Given the description of an element on the screen output the (x, y) to click on. 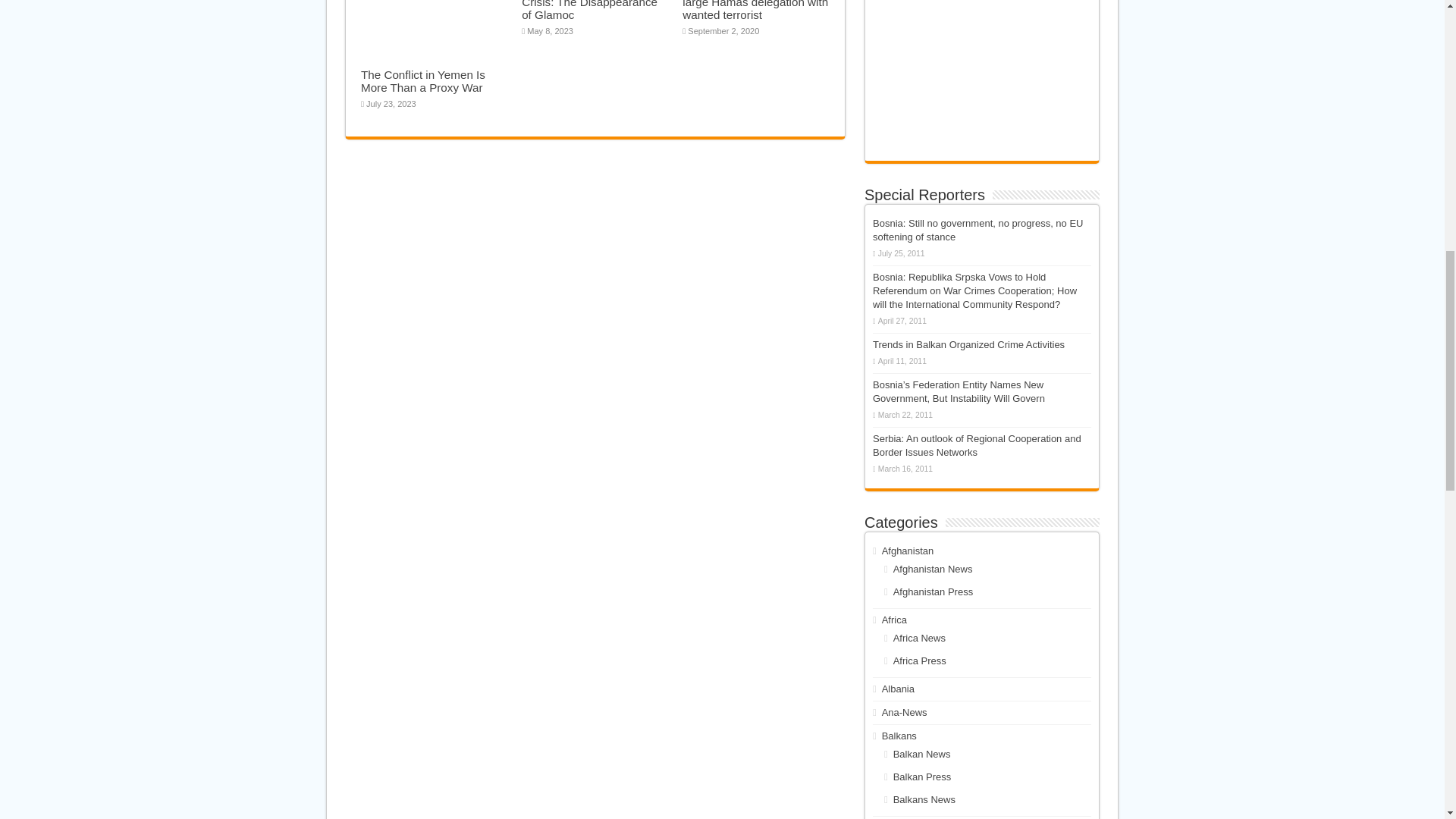
The Conflict in Yemen Is More Than a Proxy War (422, 80)
Scroll To Top (1421, 60)
